Given the description of an element on the screen output the (x, y) to click on. 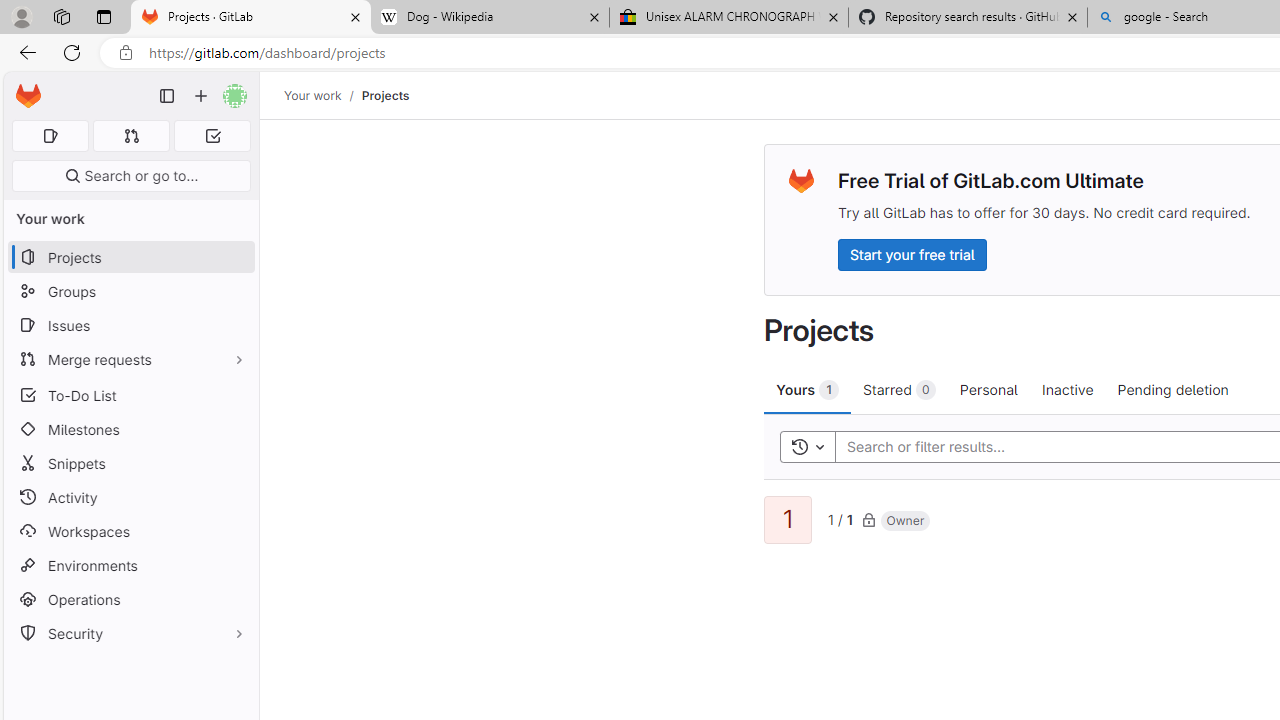
Milestones (130, 429)
Projects (384, 95)
Issues (130, 325)
Your work/ (323, 95)
Skip to main content (23, 87)
Class: s16 (868, 519)
Pending deletion (1172, 389)
Merge requests 0 (131, 136)
To-Do list 0 (212, 136)
Inactive (1067, 389)
